Given the description of an element on the screen output the (x, y) to click on. 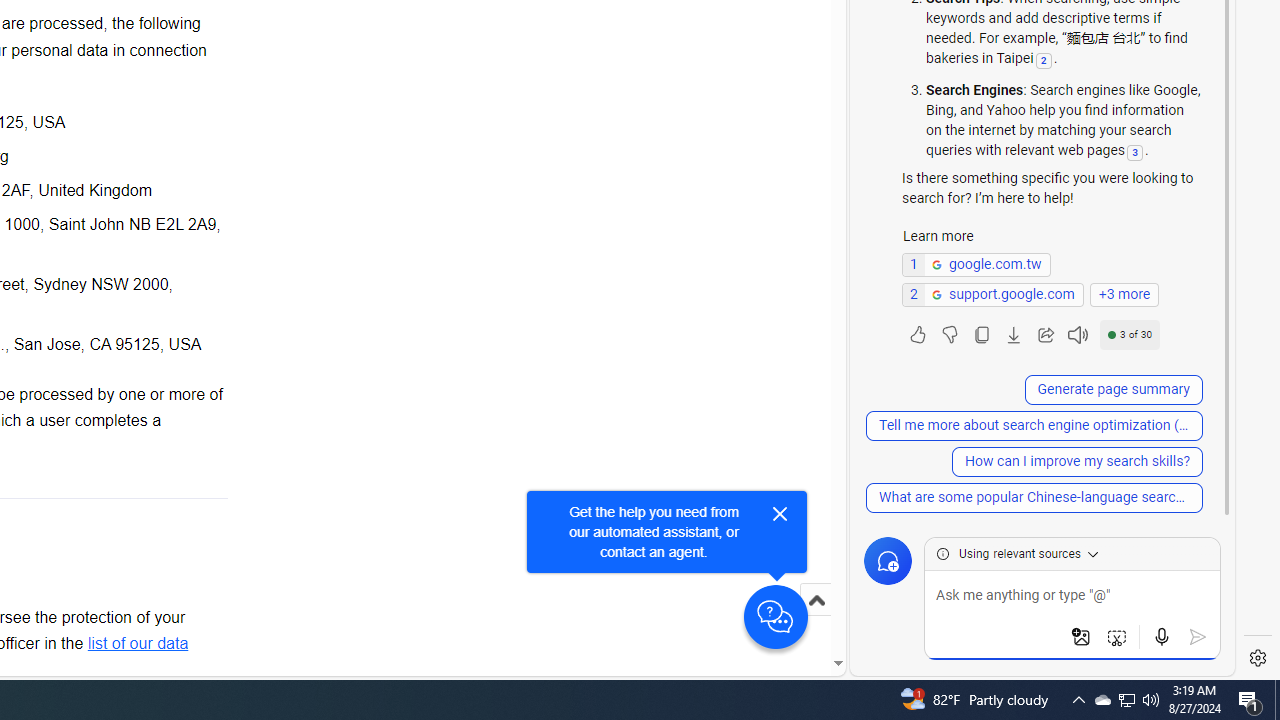
Settings (1258, 658)
Close (780, 513)
Scroll to top (816, 599)
Scroll to top (816, 620)
